Given the description of an element on the screen output the (x, y) to click on. 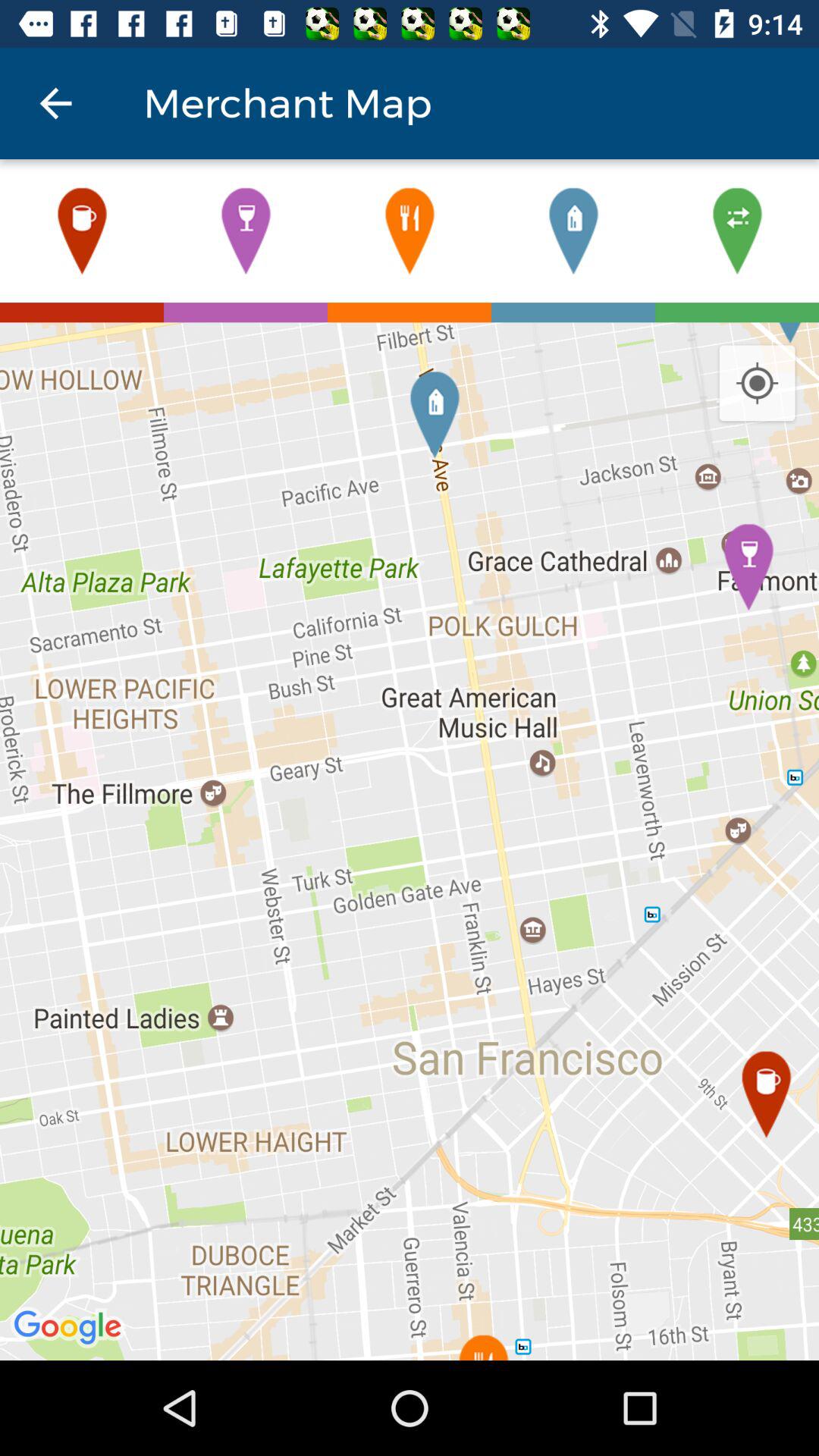
open icon at the center (409, 841)
